Given the description of an element on the screen output the (x, y) to click on. 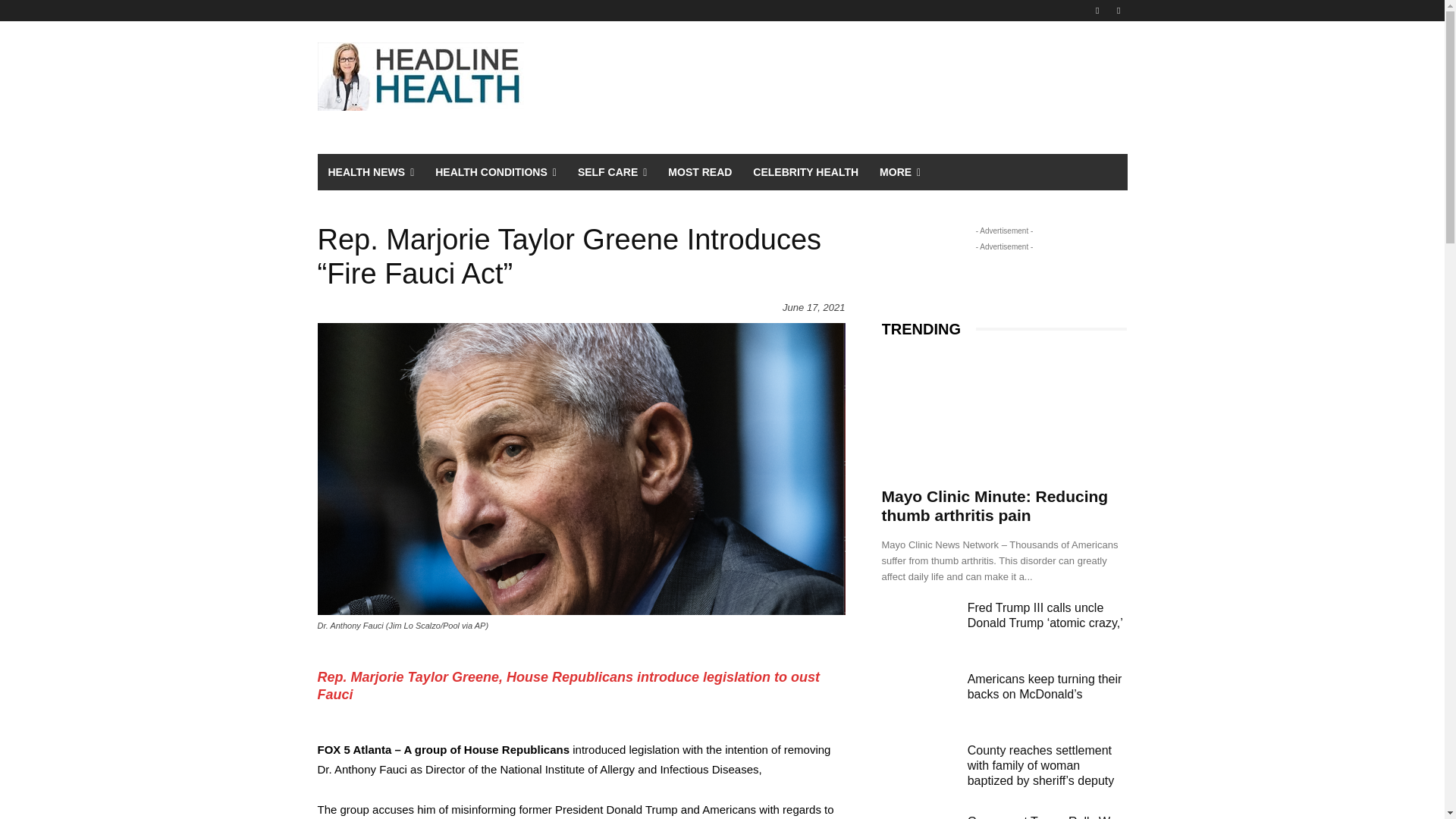
Mayo Clinic Minute: Reducing thumb arthritis pain (1003, 414)
Facebook (1097, 9)
Twitter (1117, 9)
